Given the description of an element on the screen output the (x, y) to click on. 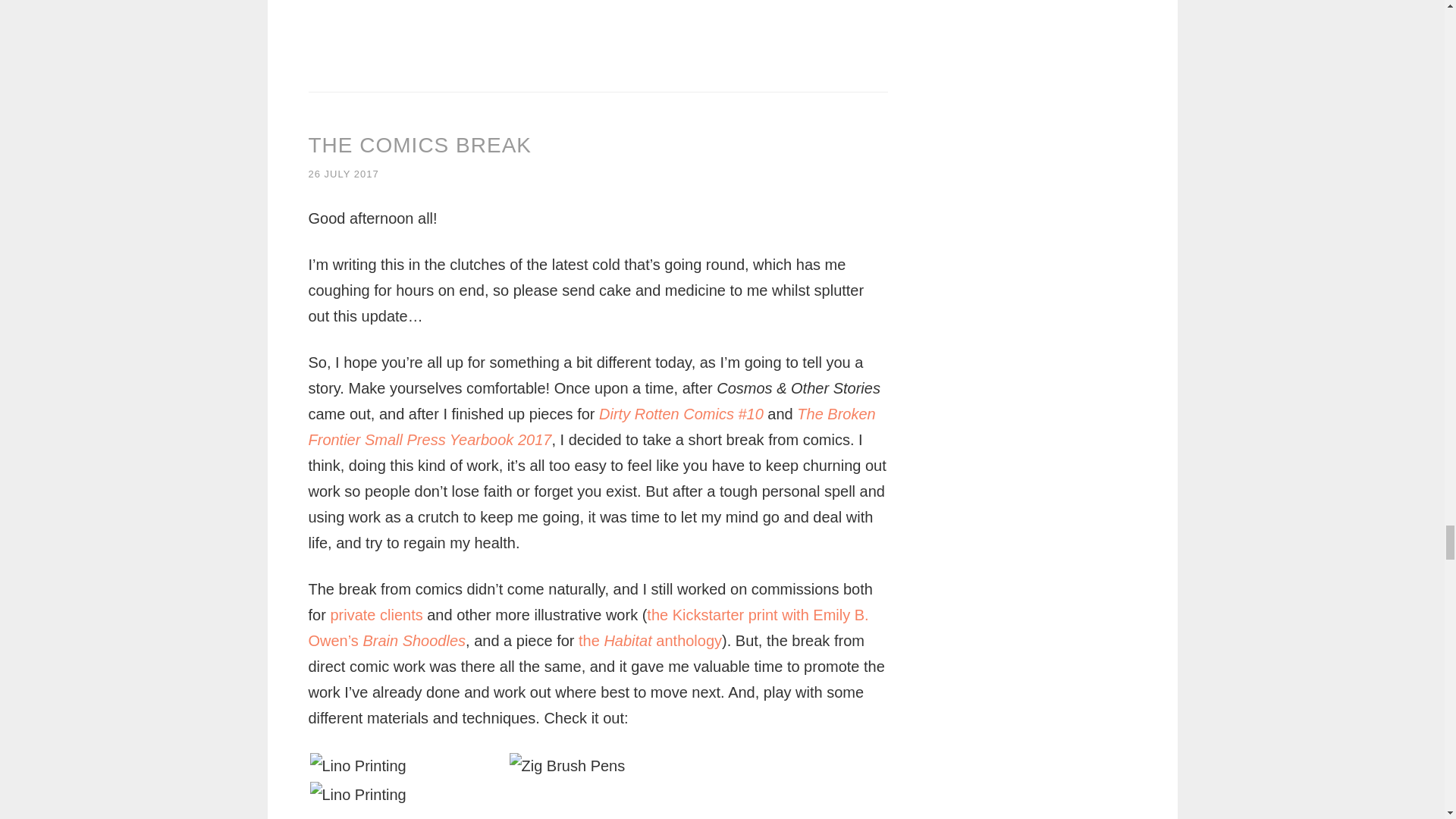
Lino Printing (357, 794)
Lino Printing (357, 765)
Zig Brush Pens (567, 765)
